Given the description of an element on the screen output the (x, y) to click on. 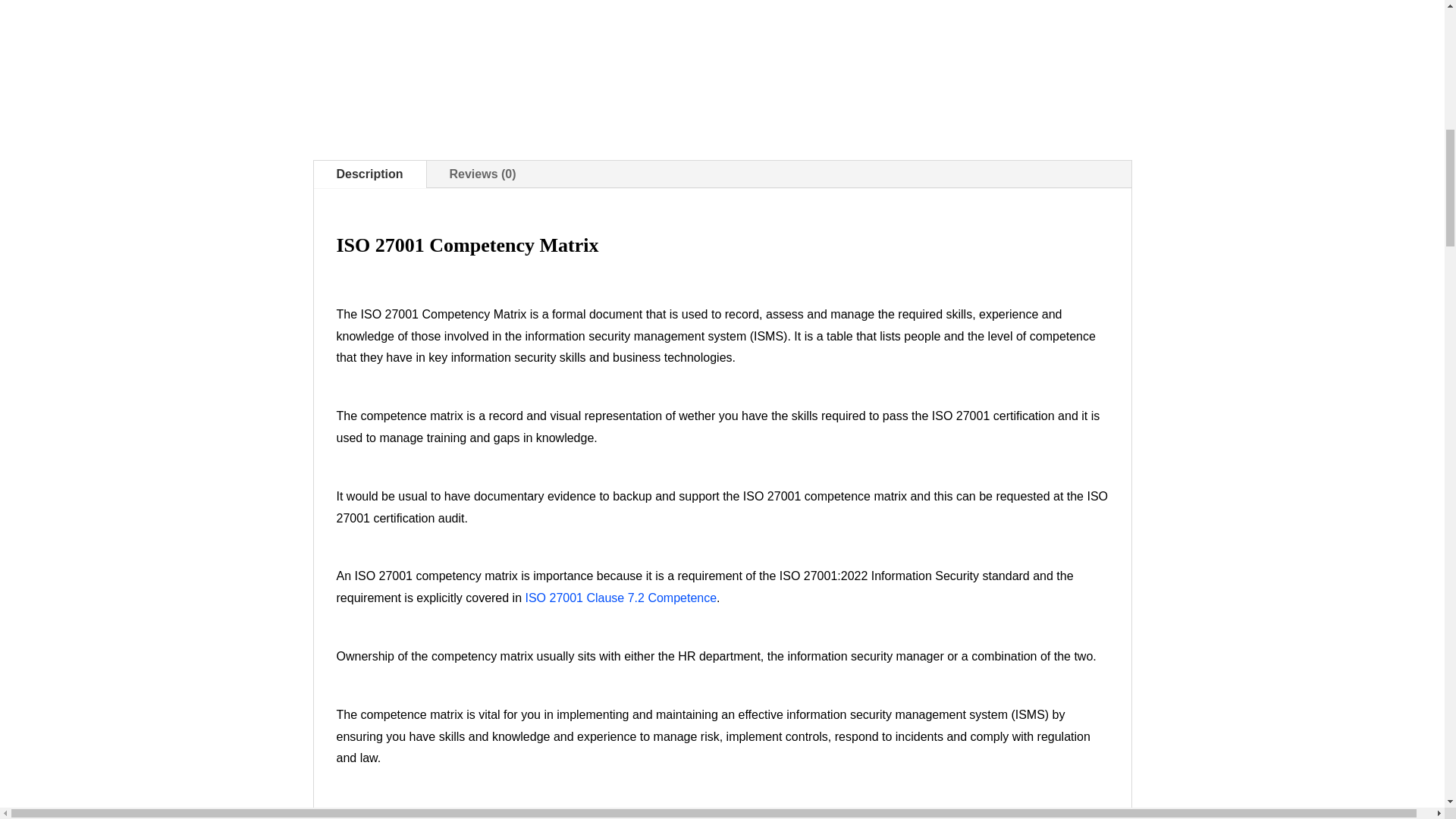
ISO 27001 Clause 7.2 Competence (620, 597)
Description (370, 173)
